Given the description of an element on the screen output the (x, y) to click on. 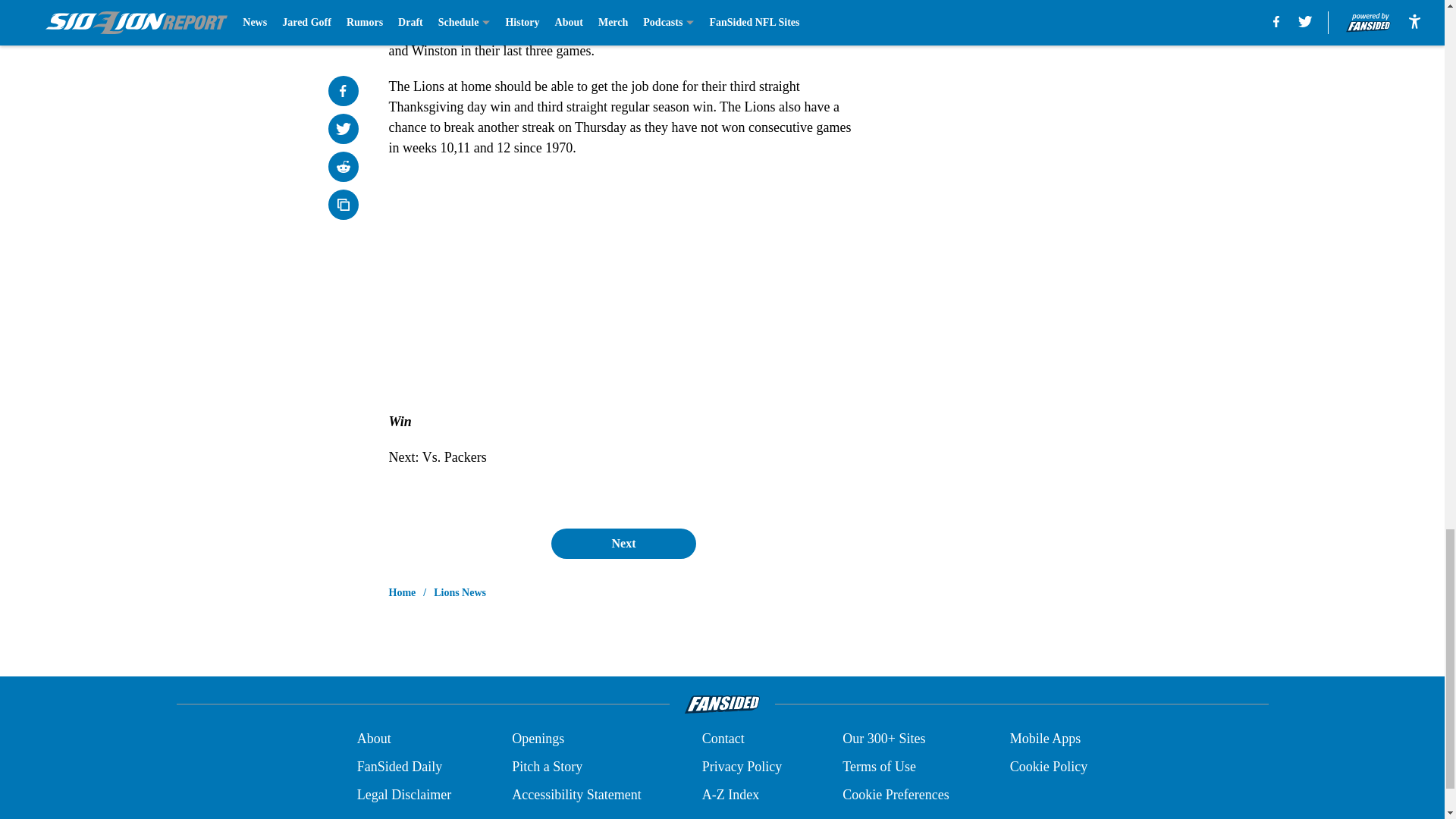
Mobile Apps (1045, 738)
Contact (722, 738)
Pitch a Story (547, 766)
Openings (538, 738)
Lions News (459, 592)
Home (401, 592)
Next (622, 543)
About (373, 738)
FanSided Daily (399, 766)
